Given the description of an element on the screen output the (x, y) to click on. 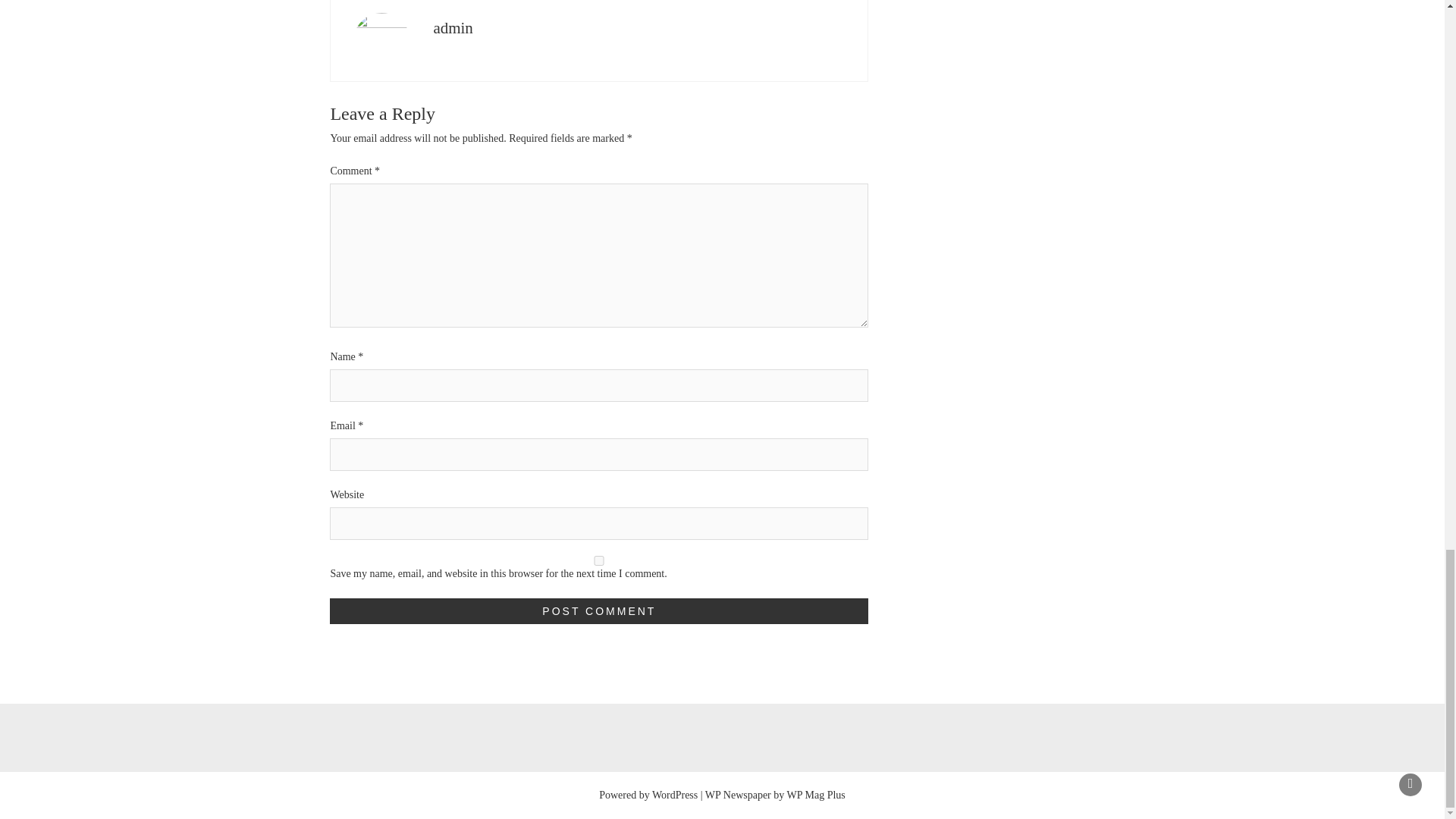
Post Comment (598, 610)
Post Comment (598, 610)
yes (598, 560)
WordPress (674, 794)
admin (452, 27)
WP Newspaper by WP Mag Plus (774, 794)
